Given the description of an element on the screen output the (x, y) to click on. 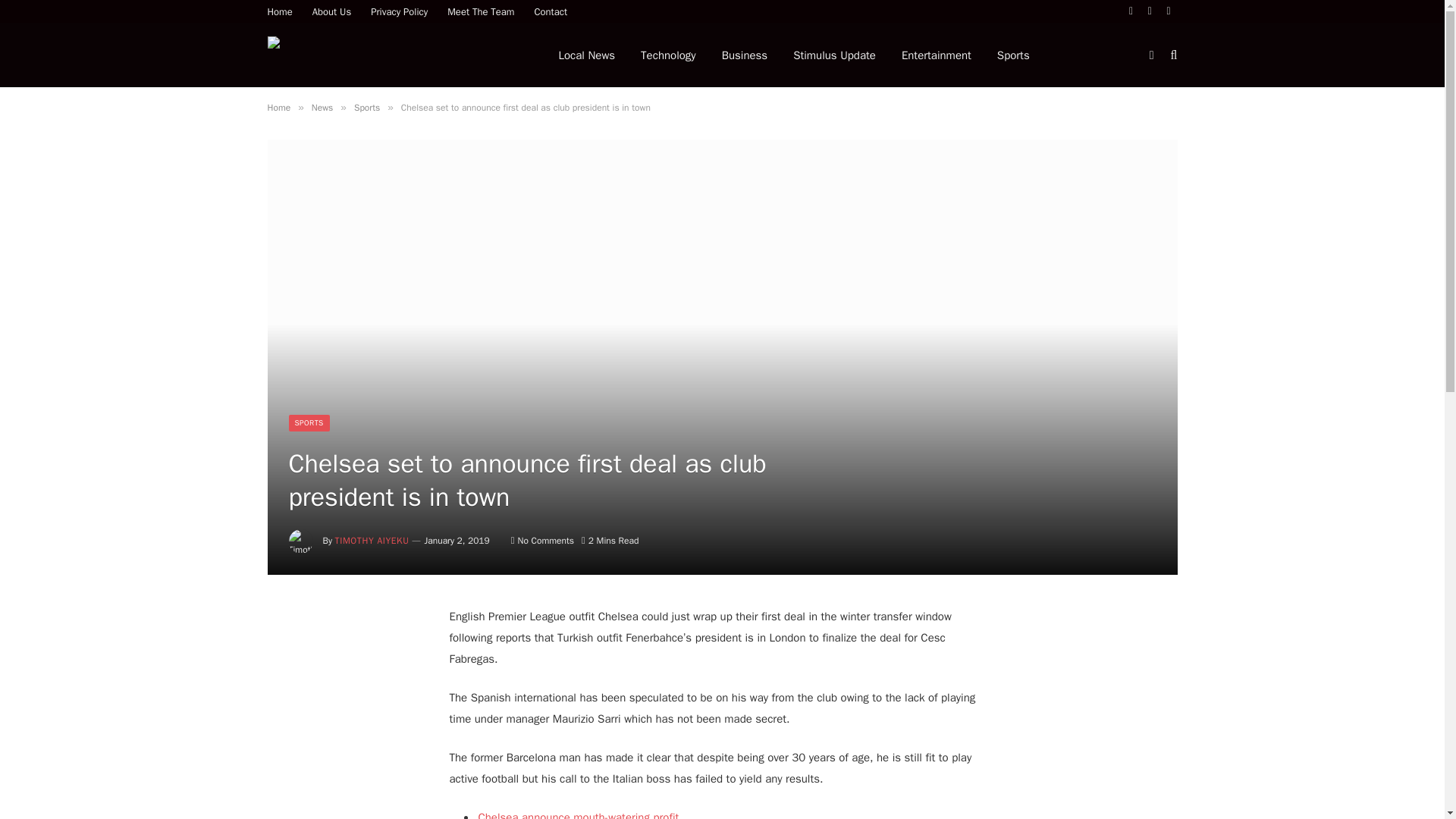
Technology (668, 54)
Entertainment (936, 54)
Stimulus Update (834, 54)
TIMOTHY AIYEKU (371, 540)
Sports (1013, 54)
Thewistle (400, 54)
Local News (587, 54)
SPORTS (308, 422)
Twitter (1149, 11)
Home (279, 11)
Home (277, 107)
About Us (331, 11)
Contact (551, 11)
Business (744, 54)
